Given the description of an element on the screen output the (x, y) to click on. 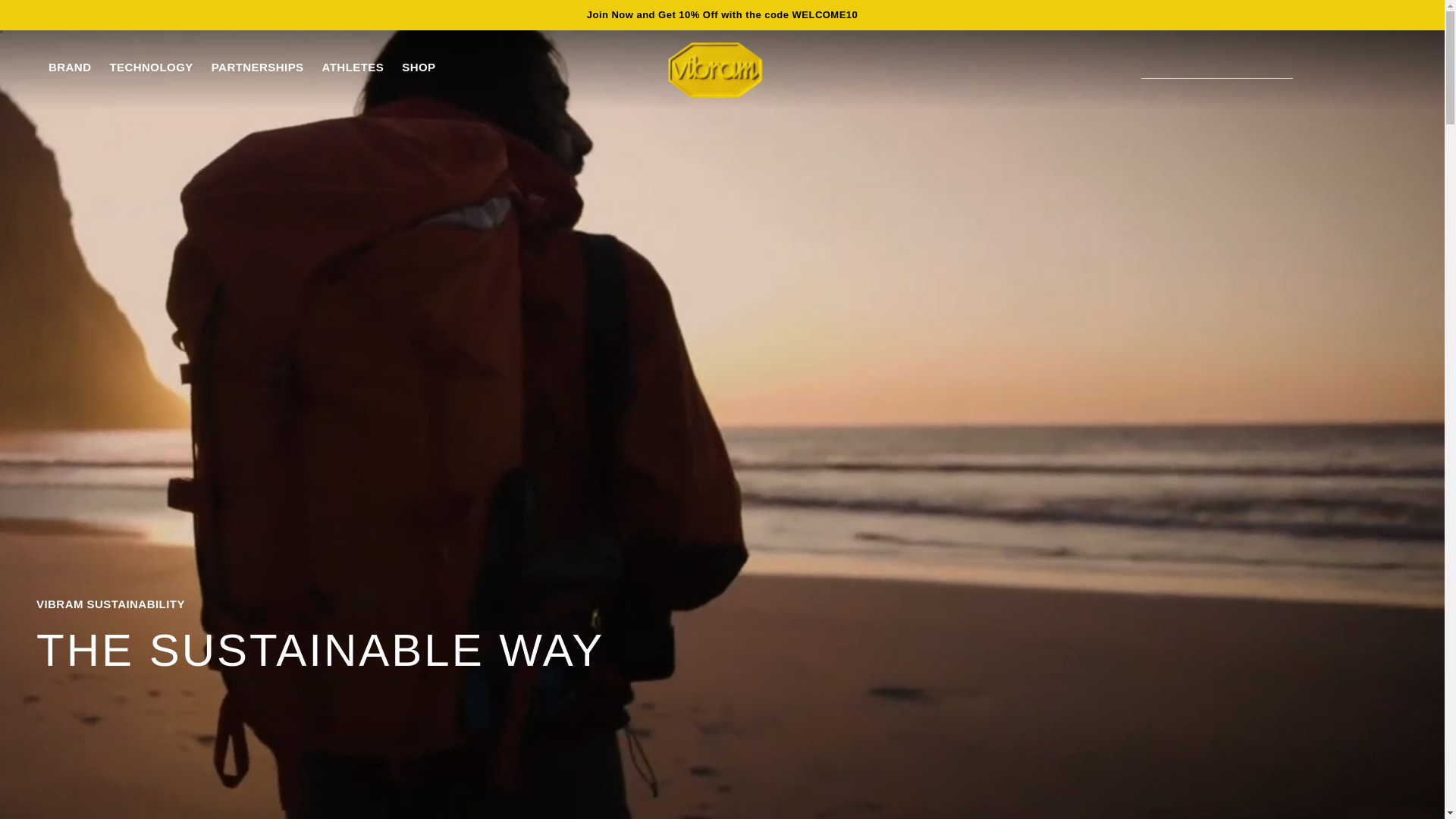
BRAND (69, 67)
TECHNOLOGY (150, 67)
Vibram Home (715, 69)
Cart 0 Items (1361, 70)
